Given the description of an element on the screen output the (x, y) to click on. 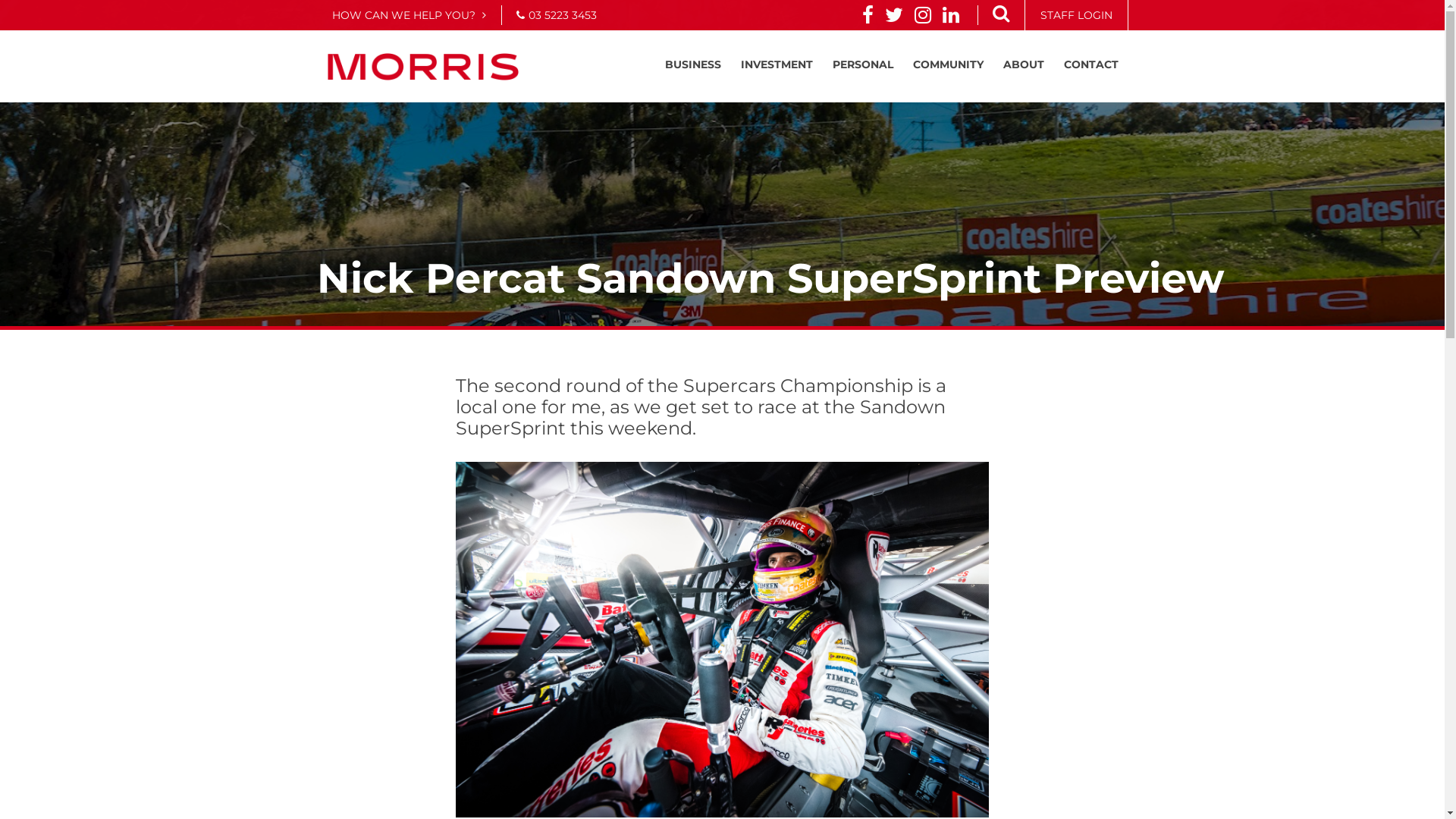
INVESTMENT Element type: text (776, 64)
CONTACT Element type: text (1090, 64)
ABOUT Element type: text (1022, 64)
PERSONAL Element type: text (862, 64)
BUSINESS Element type: text (692, 64)
Morris Finance Element type: text (422, 66)
COMMUNITY Element type: text (947, 64)
